Given the description of an element on the screen output the (x, y) to click on. 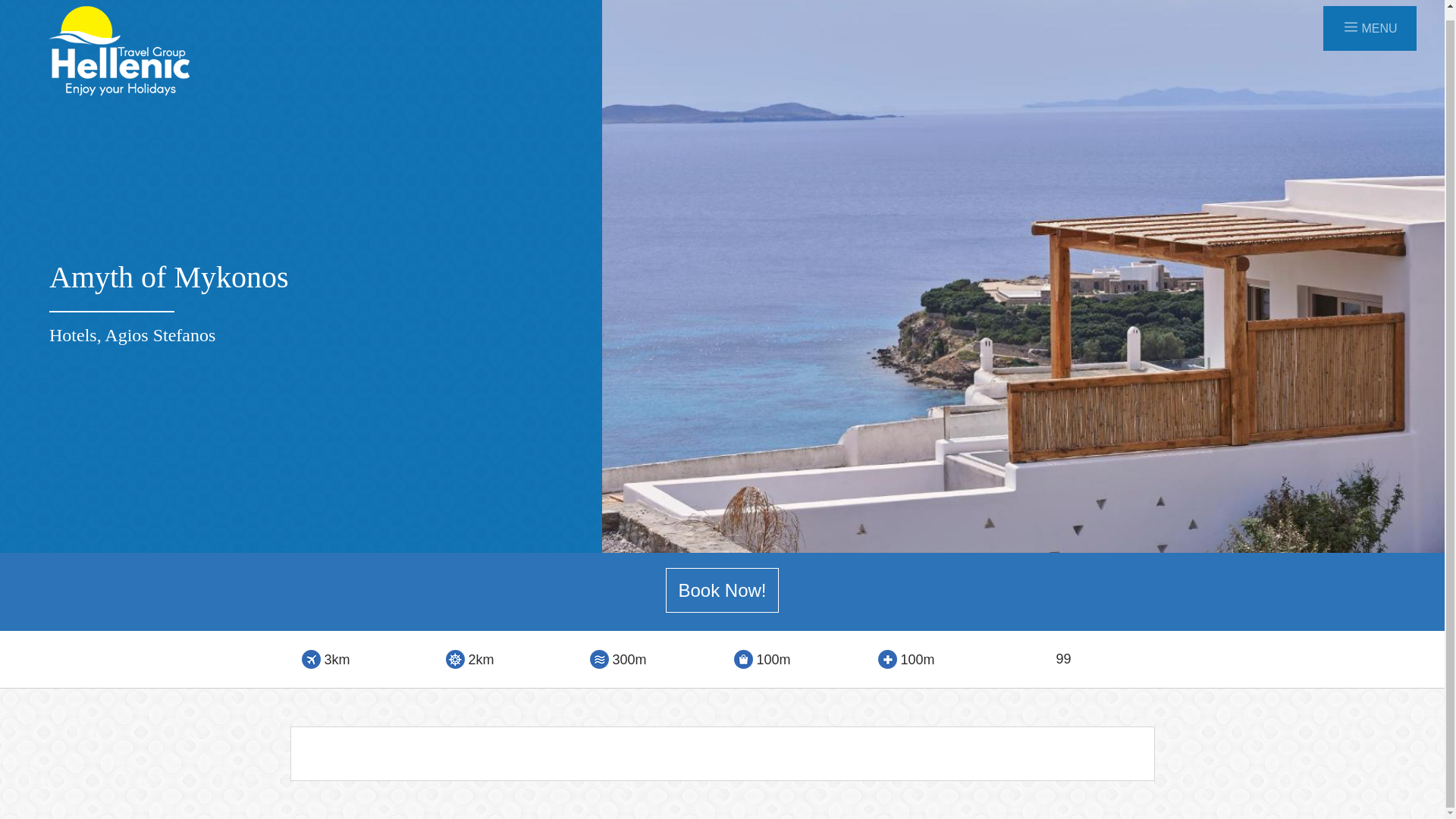
Airport (310, 659)
MENU (1369, 28)
Shops (742, 659)
Pharmacy (886, 659)
Beach (598, 659)
Book Now! (721, 590)
Port (454, 659)
